Given the description of an element on the screen output the (x, y) to click on. 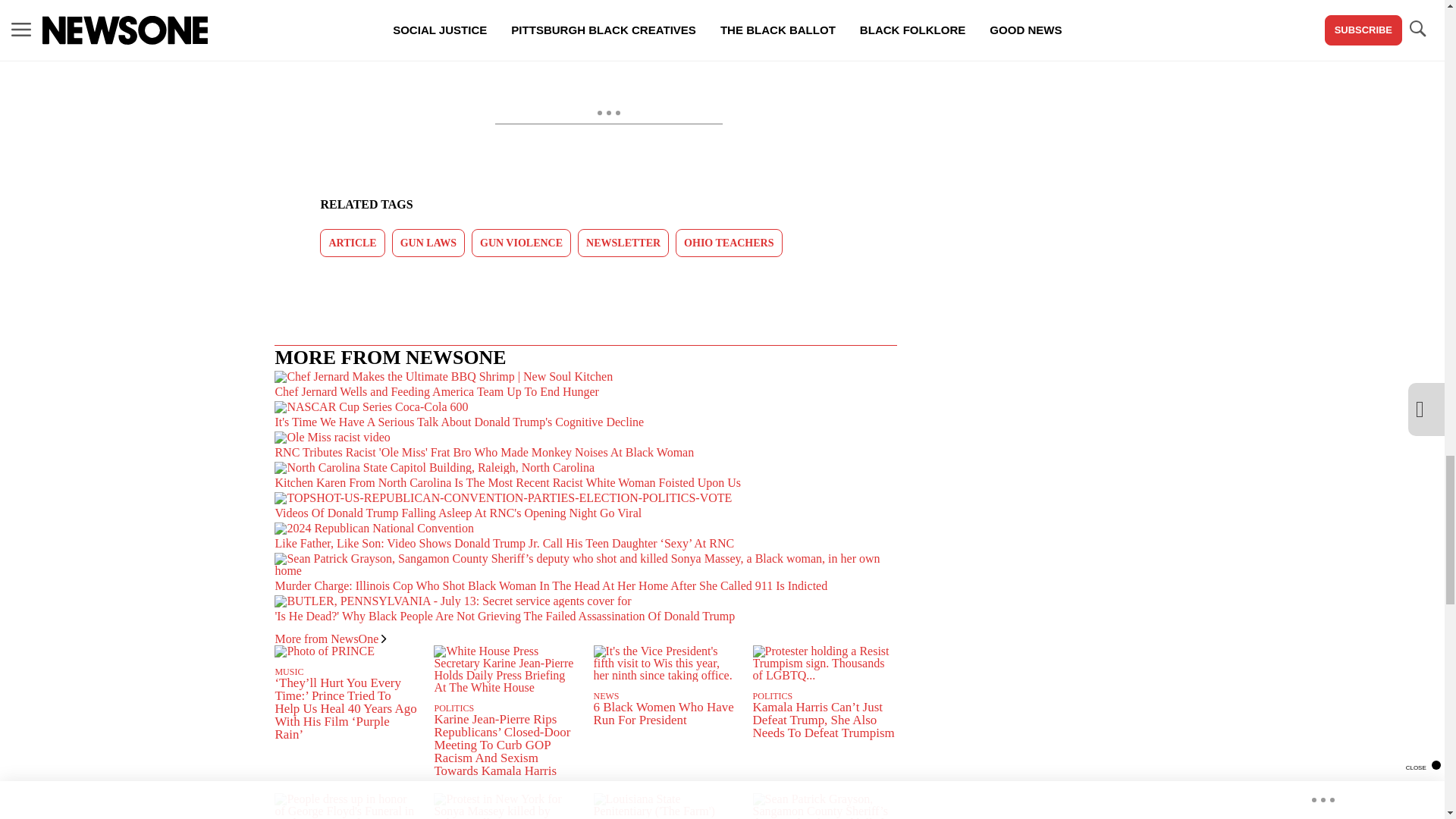
GUN LAWS (427, 243)
Chef Jernard Wells and Feeding America Team Up To End Hunger (585, 386)
NEWSLETTER (623, 243)
ARTICLE (352, 243)
OHIO TEACHERS (728, 243)
GUN VIOLENCE (520, 243)
